Given the description of an element on the screen output the (x, y) to click on. 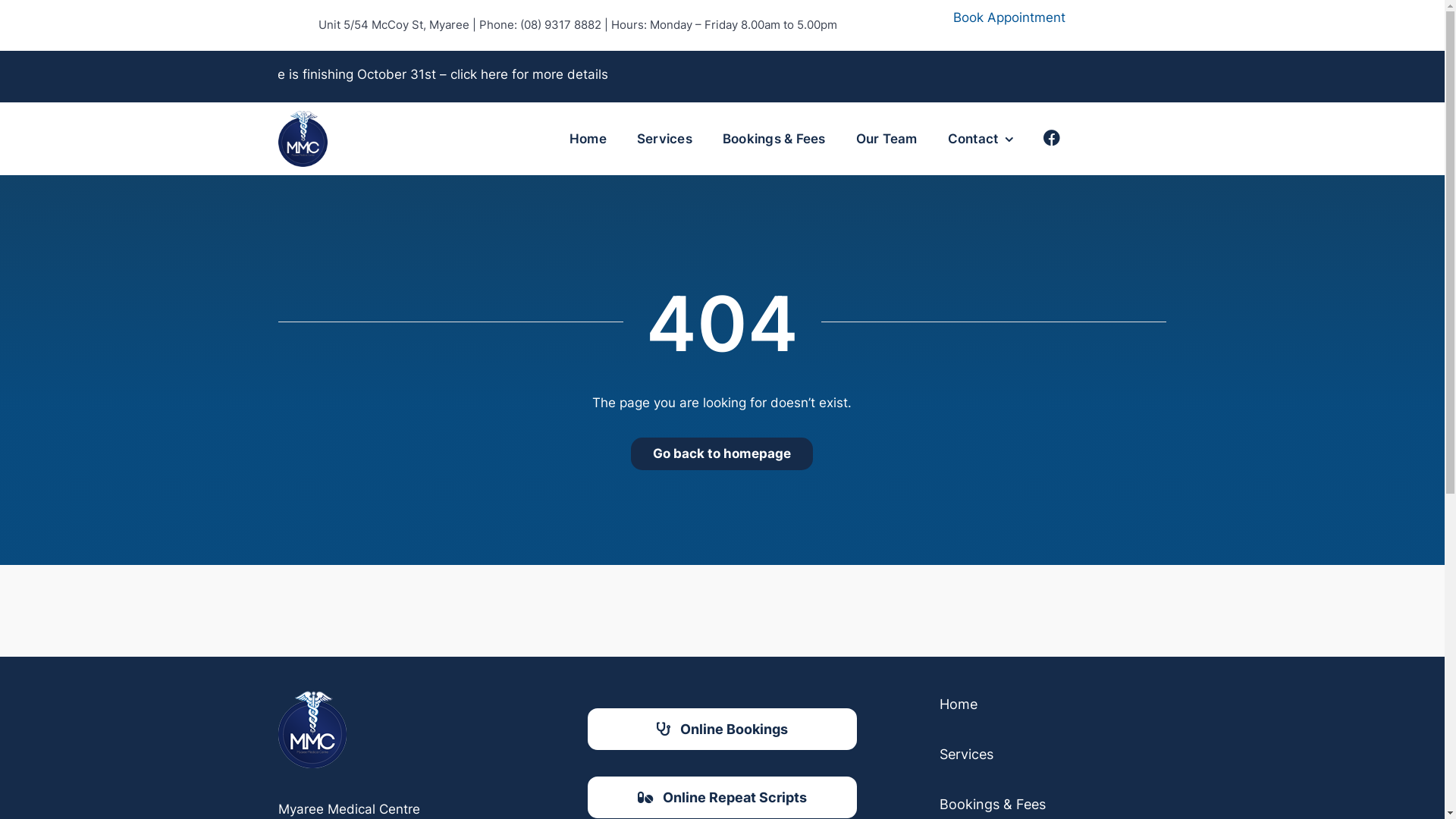
Bookings & Fees Element type: text (773, 138)
Contact Element type: text (980, 138)
Go back to homepage Element type: text (721, 453)
Home Element type: text (1052, 708)
Home Element type: text (587, 138)
Online Bookings Element type: text (722, 728)
Book Appointment Element type: text (1058, 17)
Our Team Element type: text (886, 138)
Services Element type: text (664, 138)
Services Element type: text (1052, 758)
